Given the description of an element on the screen output the (x, y) to click on. 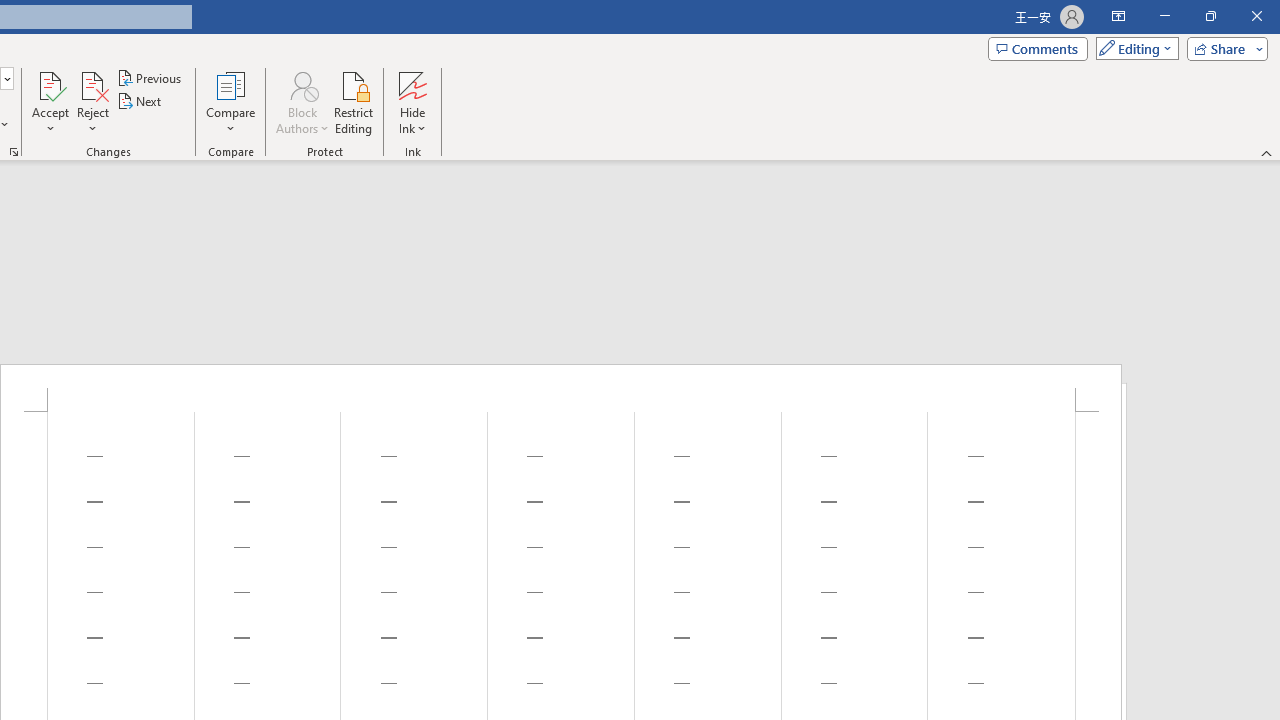
Previous (150, 78)
Accept and Move to Next (50, 84)
Reject (92, 102)
Hide Ink (412, 102)
Change Tracking Options... (13, 151)
Reject and Move to Next (92, 84)
